Given the description of an element on the screen output the (x, y) to click on. 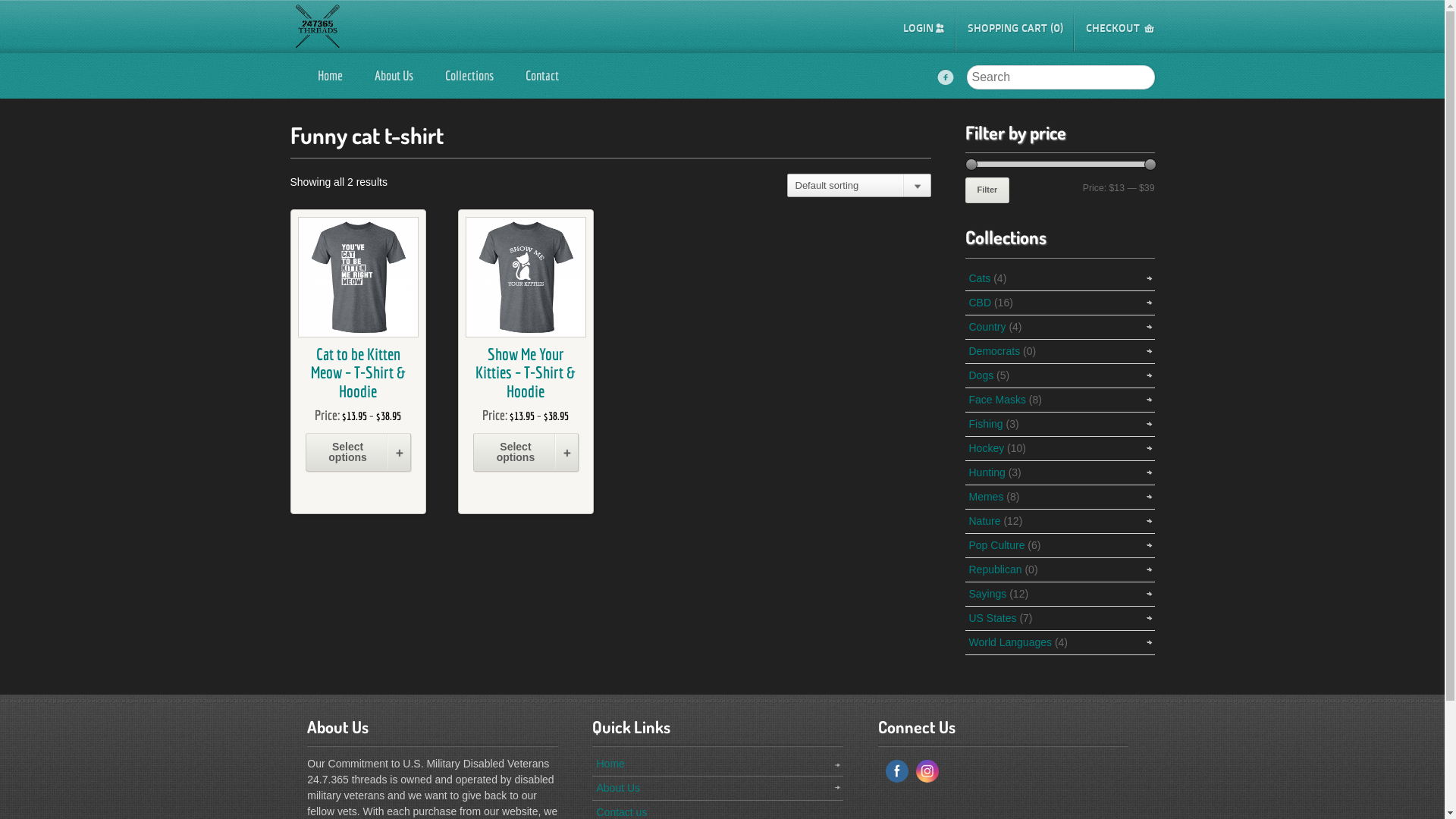
Home Element type: text (329, 75)
Pop Culture Element type: text (997, 545)
Country Element type: text (987, 326)
Republican Element type: text (995, 569)
Dogs Element type: text (981, 375)
Home Element type: text (610, 763)
Contact us Element type: text (621, 812)
About Us Element type: text (392, 75)
Contact Element type: text (541, 75)
Sayings Element type: text (988, 593)
Collections Element type: text (469, 75)
About Us Element type: text (618, 787)
Fishing Element type: text (986, 423)
Democrats Element type: text (994, 351)
Hockey Element type: text (986, 448)
Select options Element type: text (525, 452)
LOGIN Element type: text (923, 27)
Hunting Element type: text (987, 472)
US States Element type: text (992, 617)
Cats Element type: text (980, 278)
CHECKOUT Element type: text (1119, 27)
CBD Element type: text (980, 302)
World Languages Element type: text (1010, 642)
Filter Element type: text (986, 190)
Memes Element type: text (986, 496)
Select options Element type: text (357, 452)
Nature Element type: text (985, 520)
SHOPPING CART (0) Element type: text (1015, 27)
Face Masks Element type: text (997, 399)
f Element type: text (945, 77)
